Given the description of an element on the screen output the (x, y) to click on. 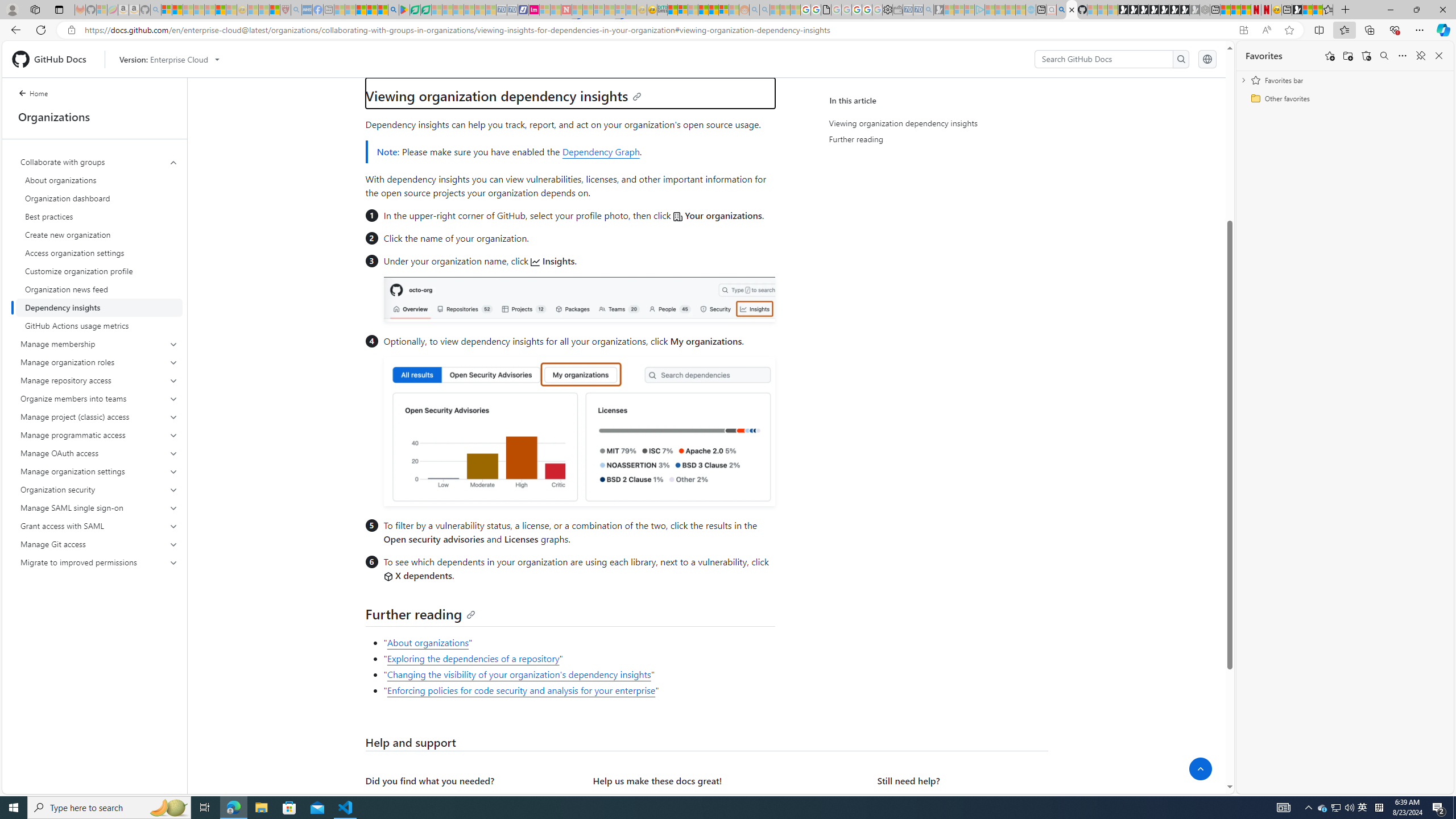
"Exploring the dependencies of a repository" (578, 658)
Manage programmatic access (99, 434)
Restore deleted favorites (1366, 55)
Select language: current language is English (1207, 58)
Further reading (933, 139)
